Given the description of an element on the screen output the (x, y) to click on. 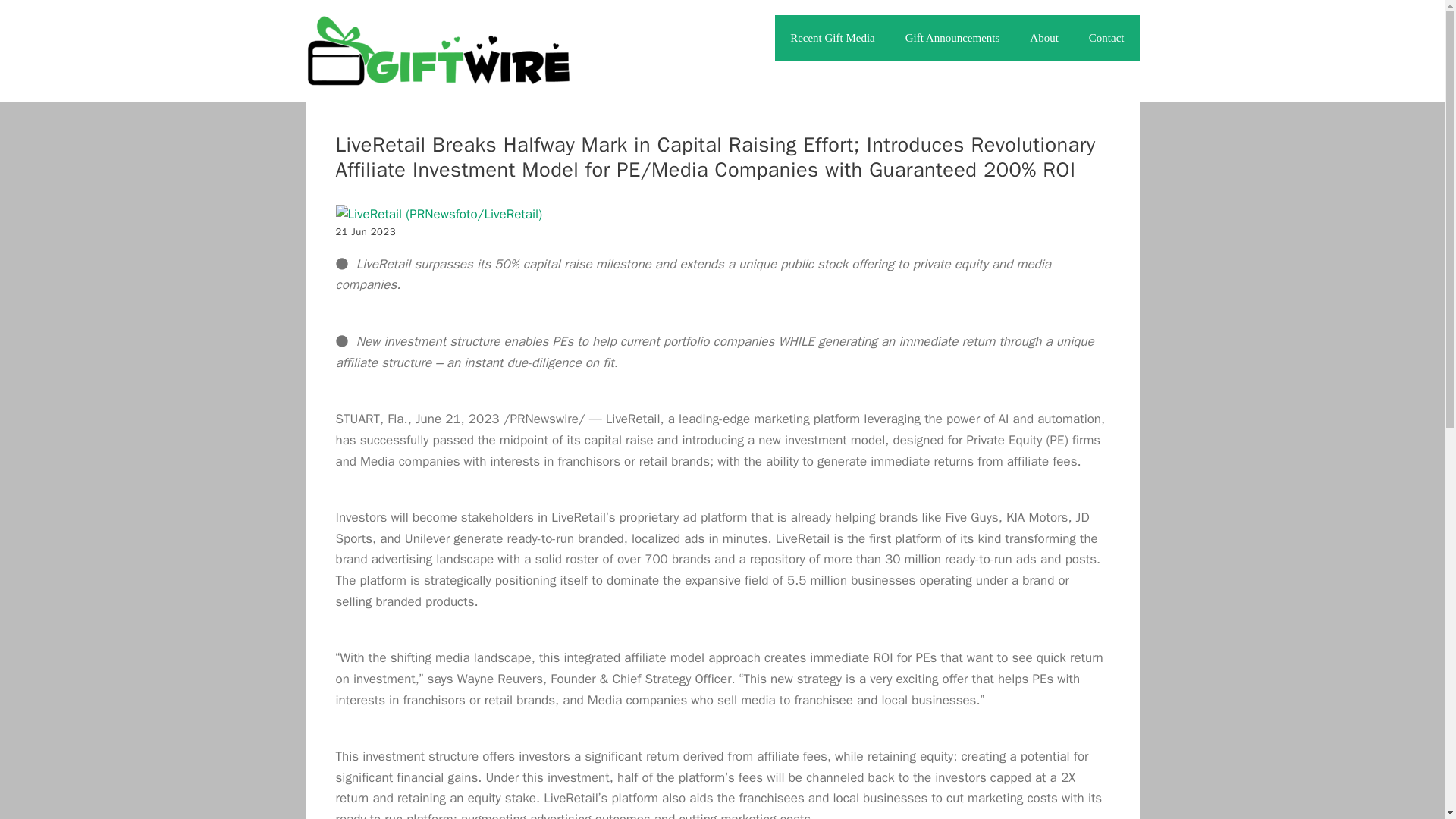
Gift Announcements (951, 37)
Recent Gift Media (831, 37)
About (1044, 37)
Contact (1107, 37)
